Given the description of an element on the screen output the (x, y) to click on. 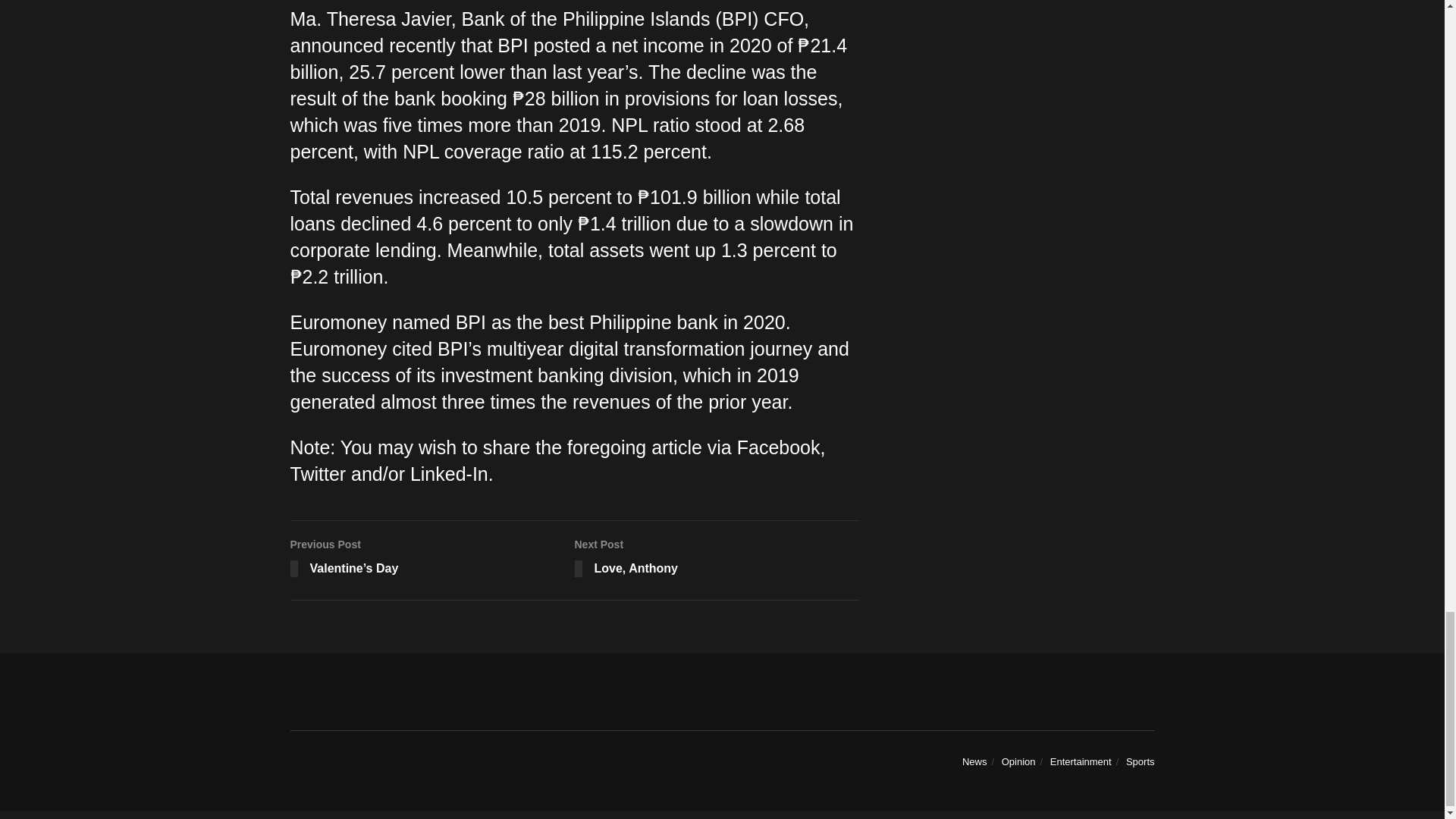
Opinion (1018, 761)
Entertainment (1080, 761)
News (974, 761)
Sports (1139, 761)
